Given the description of an element on the screen output the (x, y) to click on. 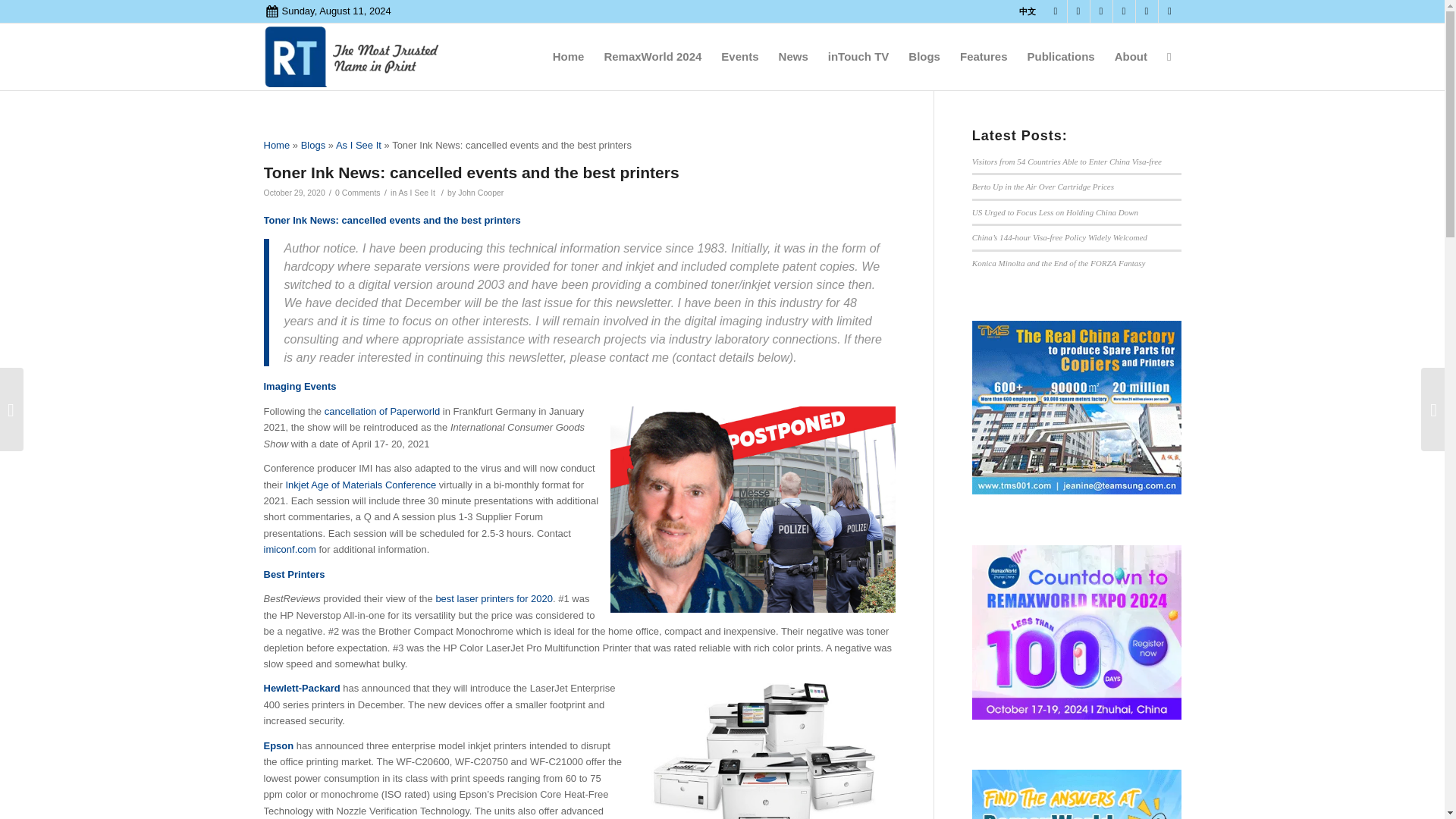
Page 2 (579, 749)
RemaxWorld 2024 (652, 56)
